Given the description of an element on the screen output the (x, y) to click on. 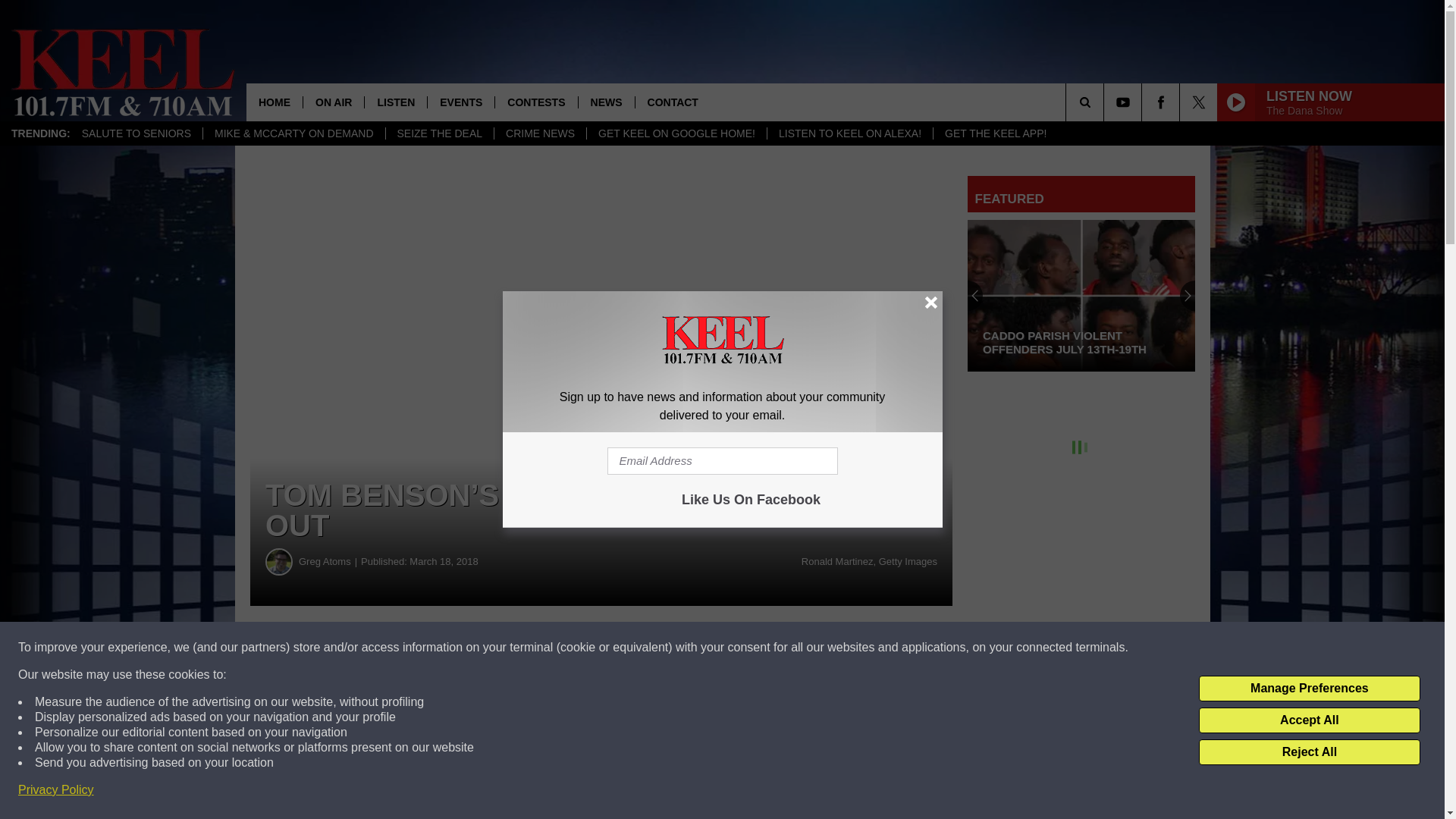
CONTESTS (535, 102)
Privacy Policy (55, 789)
LISTEN (395, 102)
LISTEN TO KEEL ON ALEXA! (850, 133)
SEARCH (1106, 102)
EVENTS (460, 102)
NEWS (606, 102)
SALUTE TO SENIORS (135, 133)
Email Address (722, 461)
Reject All (1309, 751)
GET THE KEEL APP! (995, 133)
CRIME NEWS (539, 133)
Manage Preferences (1309, 688)
ON AIR (333, 102)
SEIZE THE DEAL (440, 133)
